Given the description of an element on the screen output the (x, y) to click on. 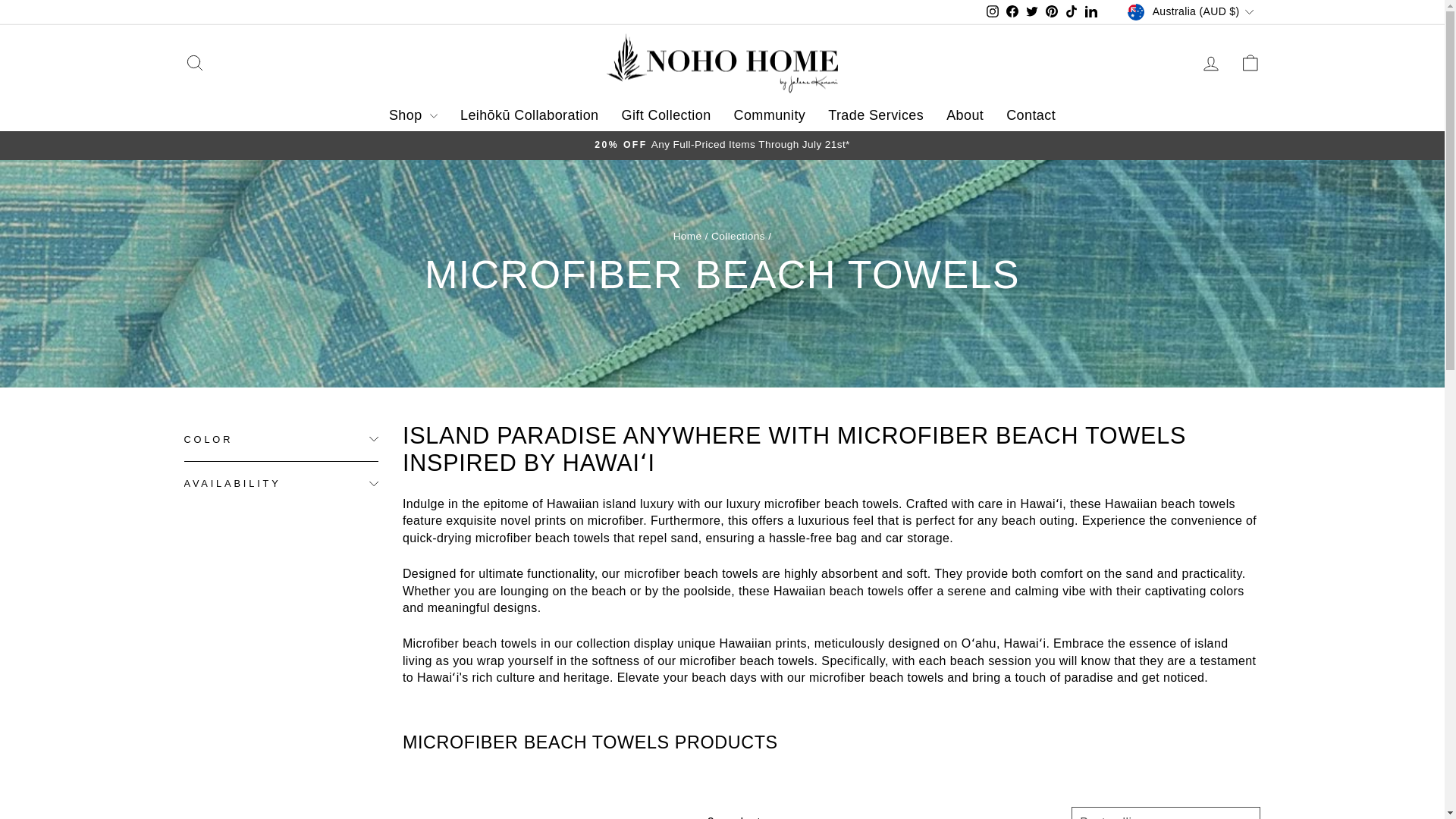
NOHO HOME on Facebook (1012, 12)
account (1210, 63)
twitter (1032, 10)
NOHO HOME on LinkedIn (1090, 12)
NOHO HOME on Twitter (1032, 12)
NOHO HOME on Instagram (992, 12)
instagram (992, 10)
NOHO HOME on TikTok (1071, 12)
icon-bag-minimal (1249, 62)
Back to NOHO HOME coastal home decor homepage (686, 235)
icon-search (194, 62)
NOHO HOME on Pinterest (1051, 12)
